Given the description of an element on the screen output the (x, y) to click on. 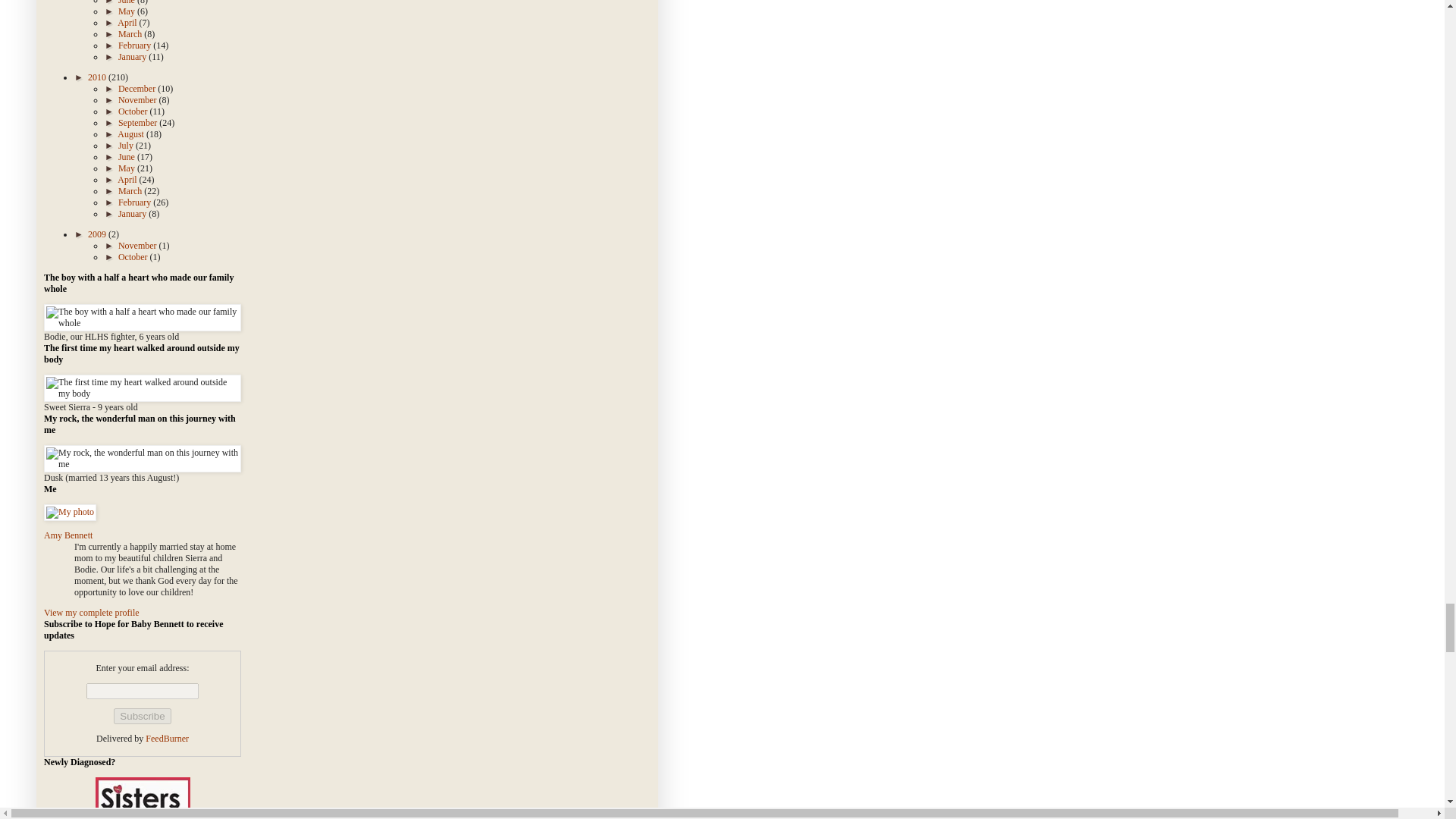
Subscribe (141, 715)
